Given the description of an element on the screen output the (x, y) to click on. 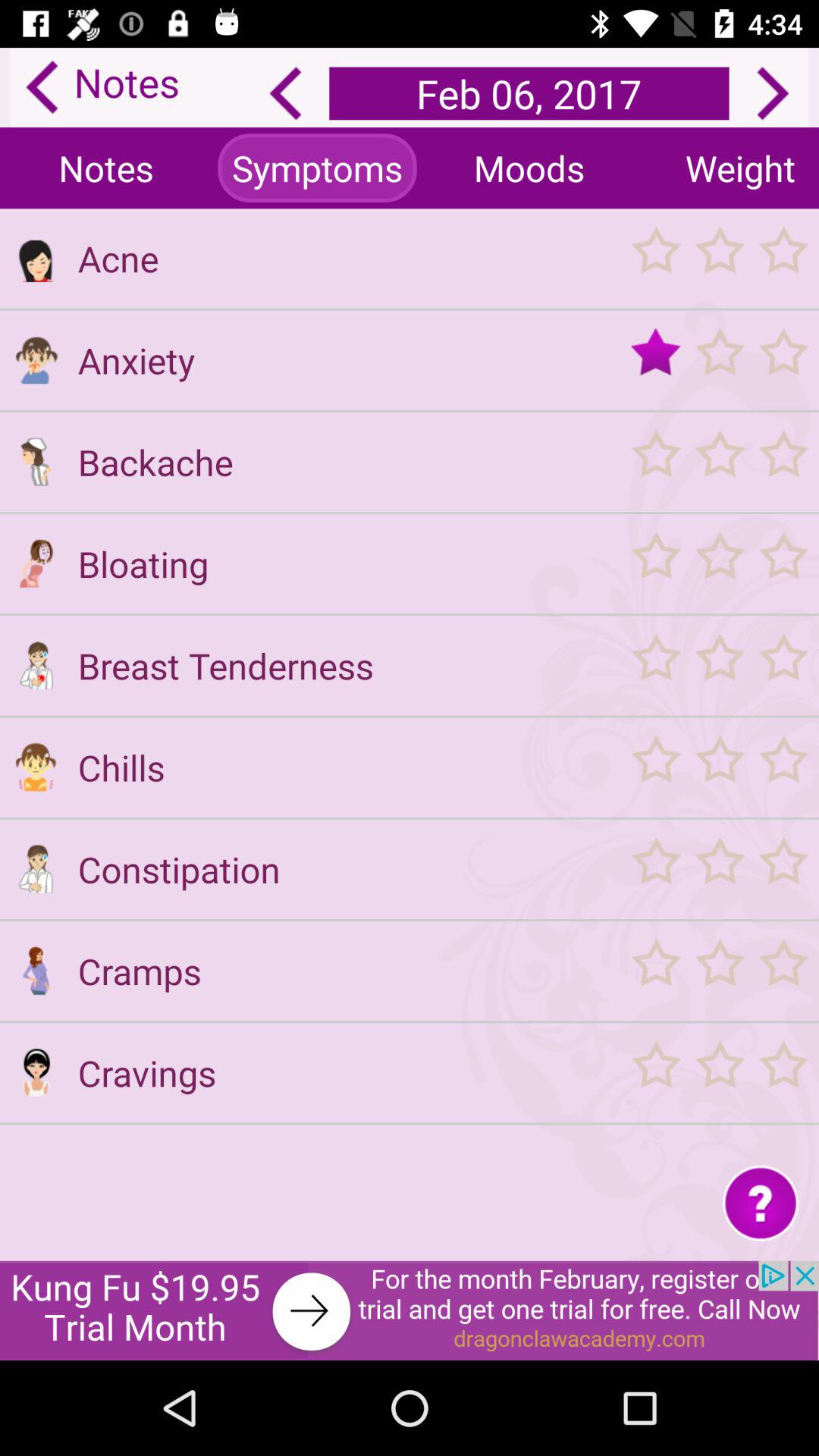
button to denote anxiety (35, 359)
